Given the description of an element on the screen output the (x, y) to click on. 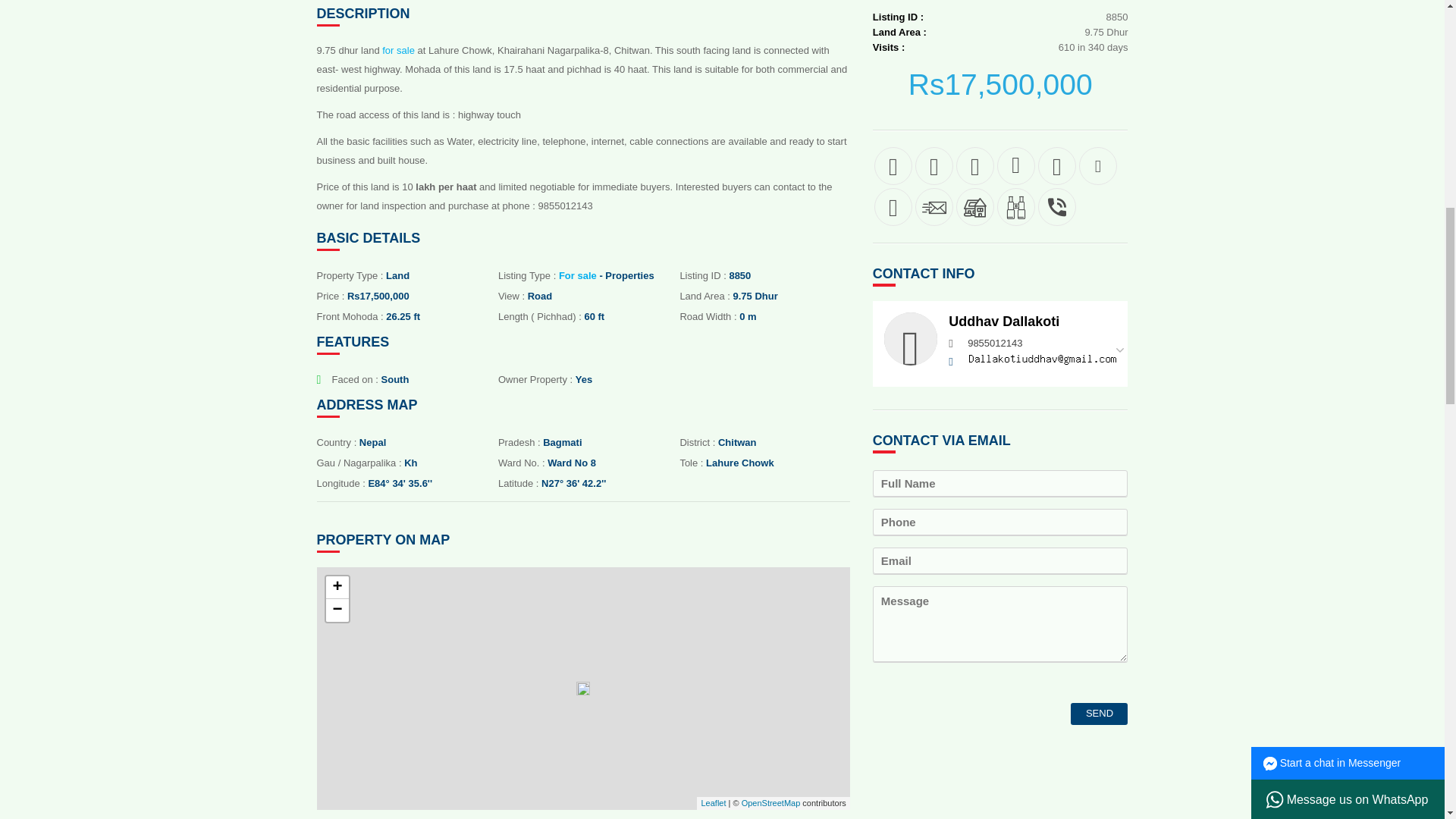
Zoom in (337, 587)
A JS library for interactive maps (712, 802)
Send (1098, 713)
Zoom out (337, 609)
